Given the description of an element on the screen output the (x, y) to click on. 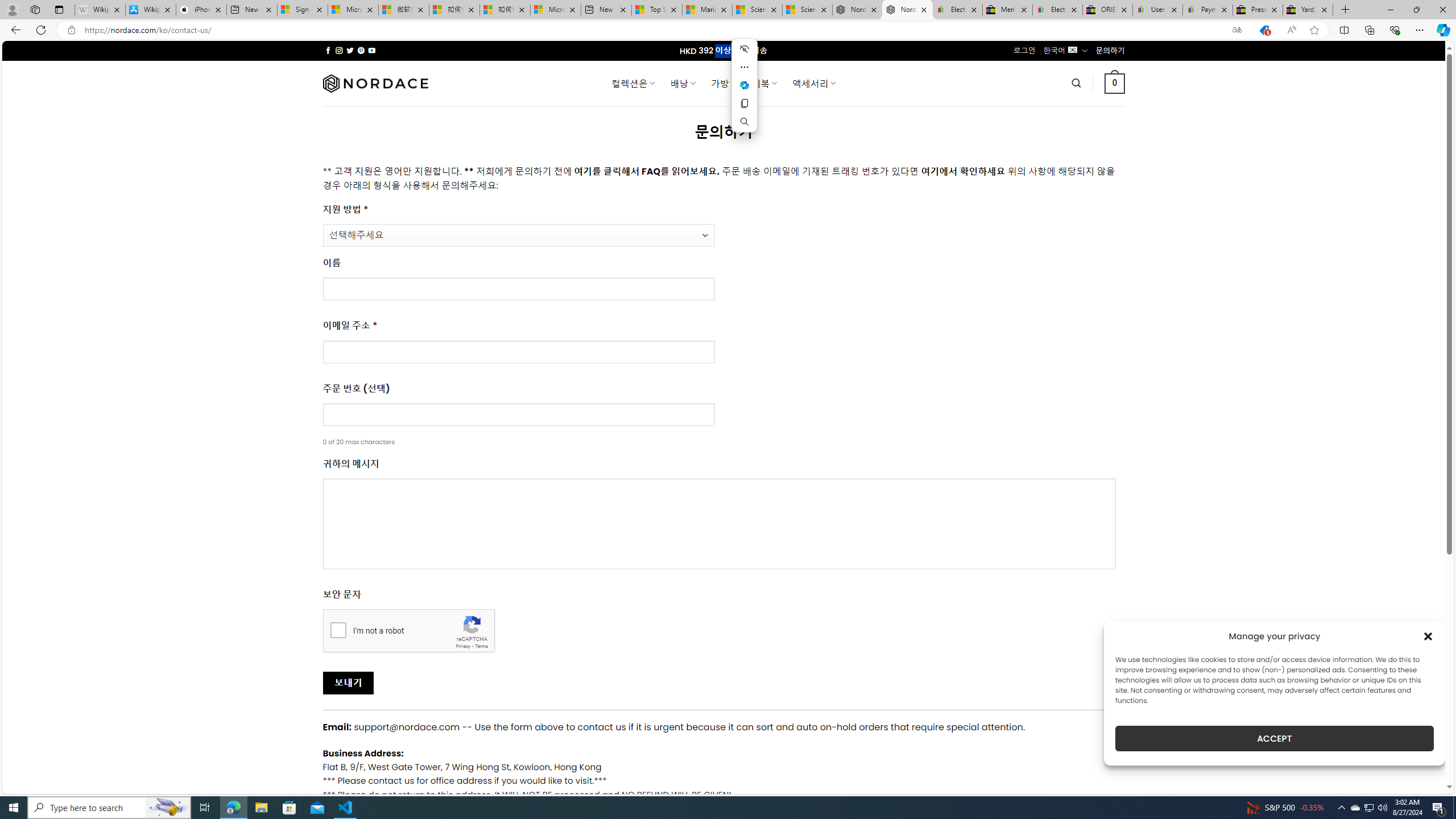
Split screen (1344, 29)
More actions (744, 67)
Show translate options (1236, 29)
Restore (1416, 9)
Nordace - Summer Adventures 2024 (856, 9)
Electronics, Cars, Fashion, Collectibles & More | eBay (1057, 9)
Follow on Twitter (349, 50)
Workspaces (34, 9)
Class: cmplz-close (1428, 636)
